Given the description of an element on the screen output the (x, y) to click on. 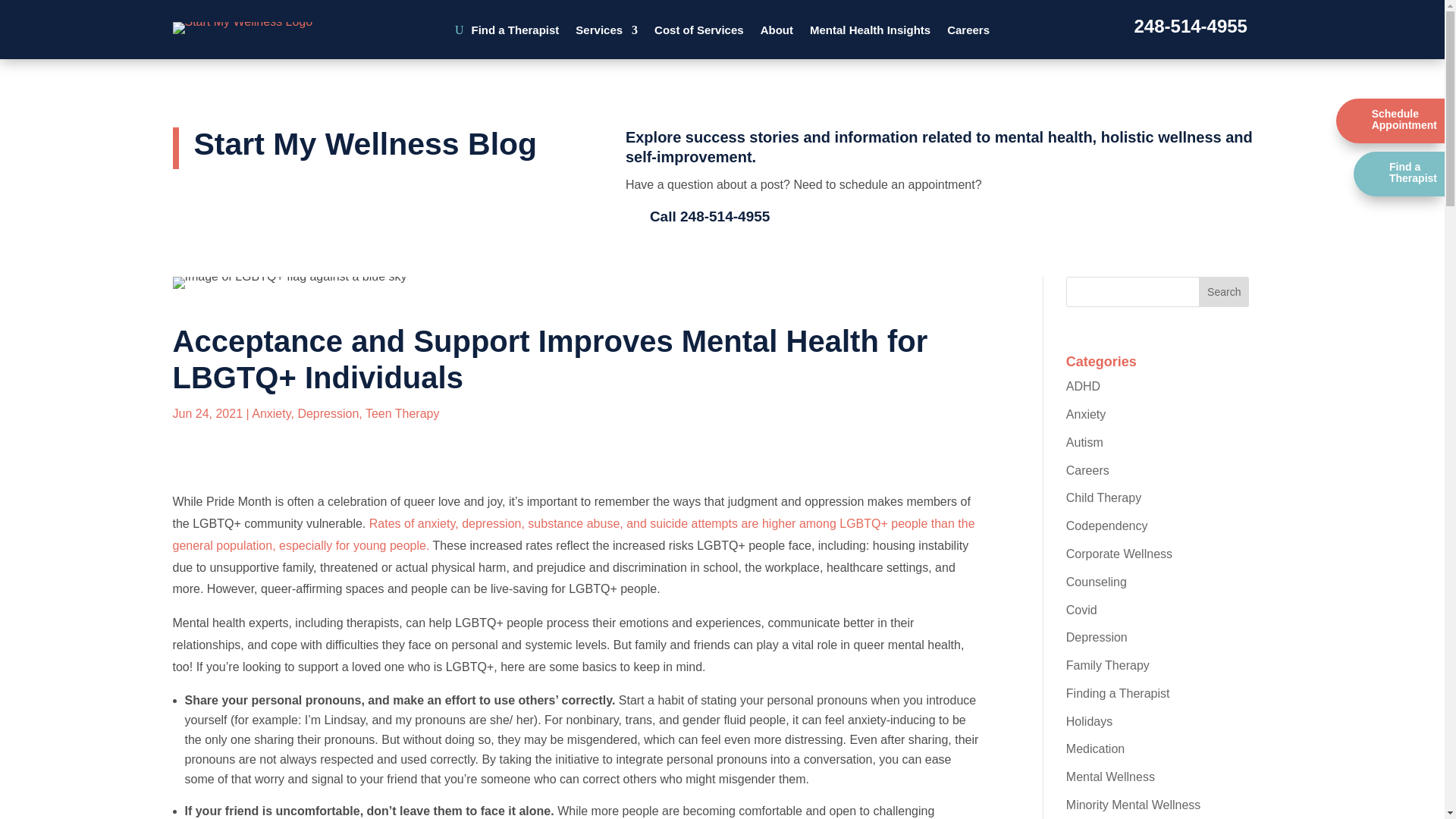
Find a Therapist (515, 33)
Depression (327, 413)
About (776, 33)
Mental Health Insights (869, 33)
Anxiety (270, 413)
Careers (968, 33)
Services (606, 33)
Cost of Services (698, 33)
Search (1223, 291)
Go to Homepage (243, 27)
